Given the description of an element on the screen output the (x, y) to click on. 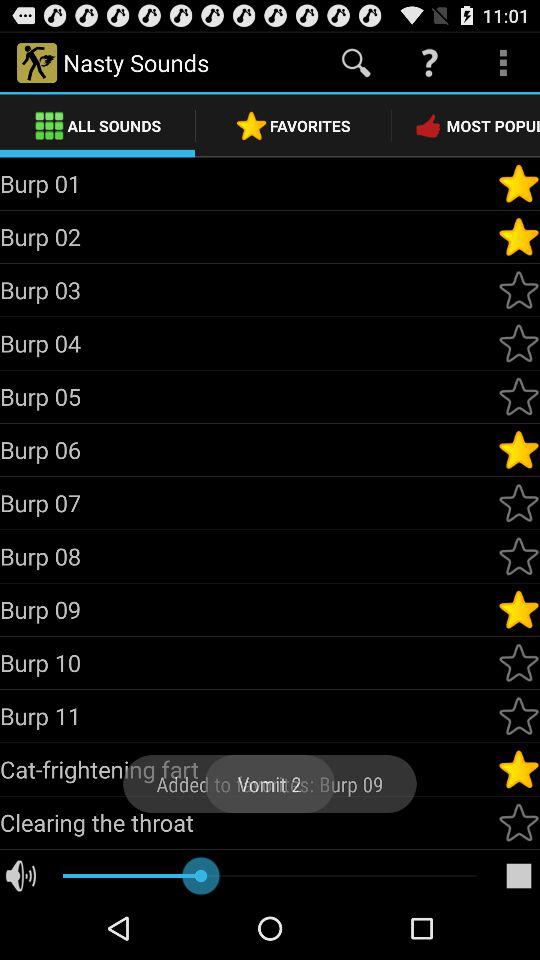
jump until the cat-frightening fart (248, 769)
